Given the description of an element on the screen output the (x, y) to click on. 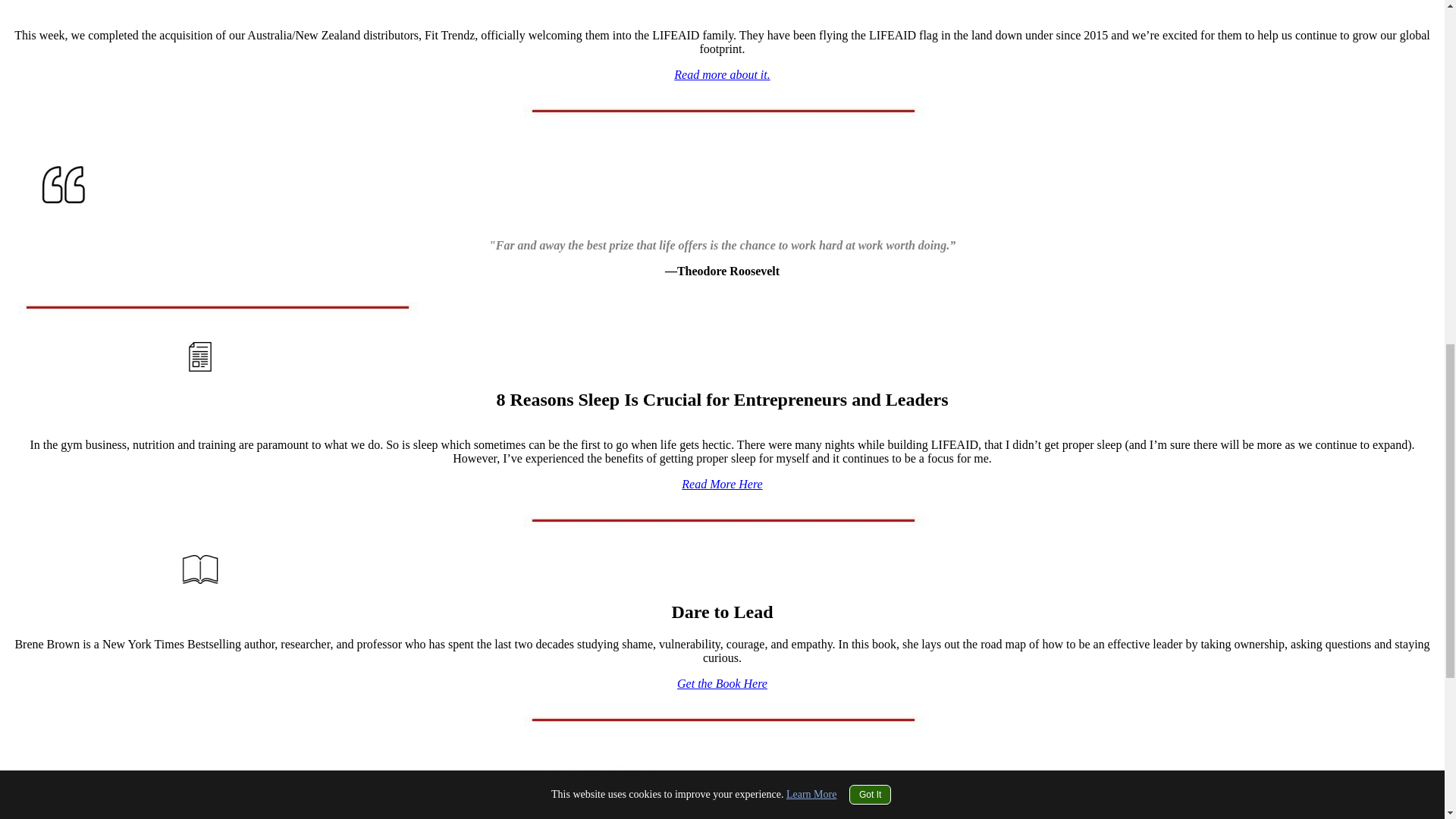
Read more about it. (722, 74)
Read More Here (721, 483)
Get the Book Here (722, 683)
